Given the description of an element on the screen output the (x, y) to click on. 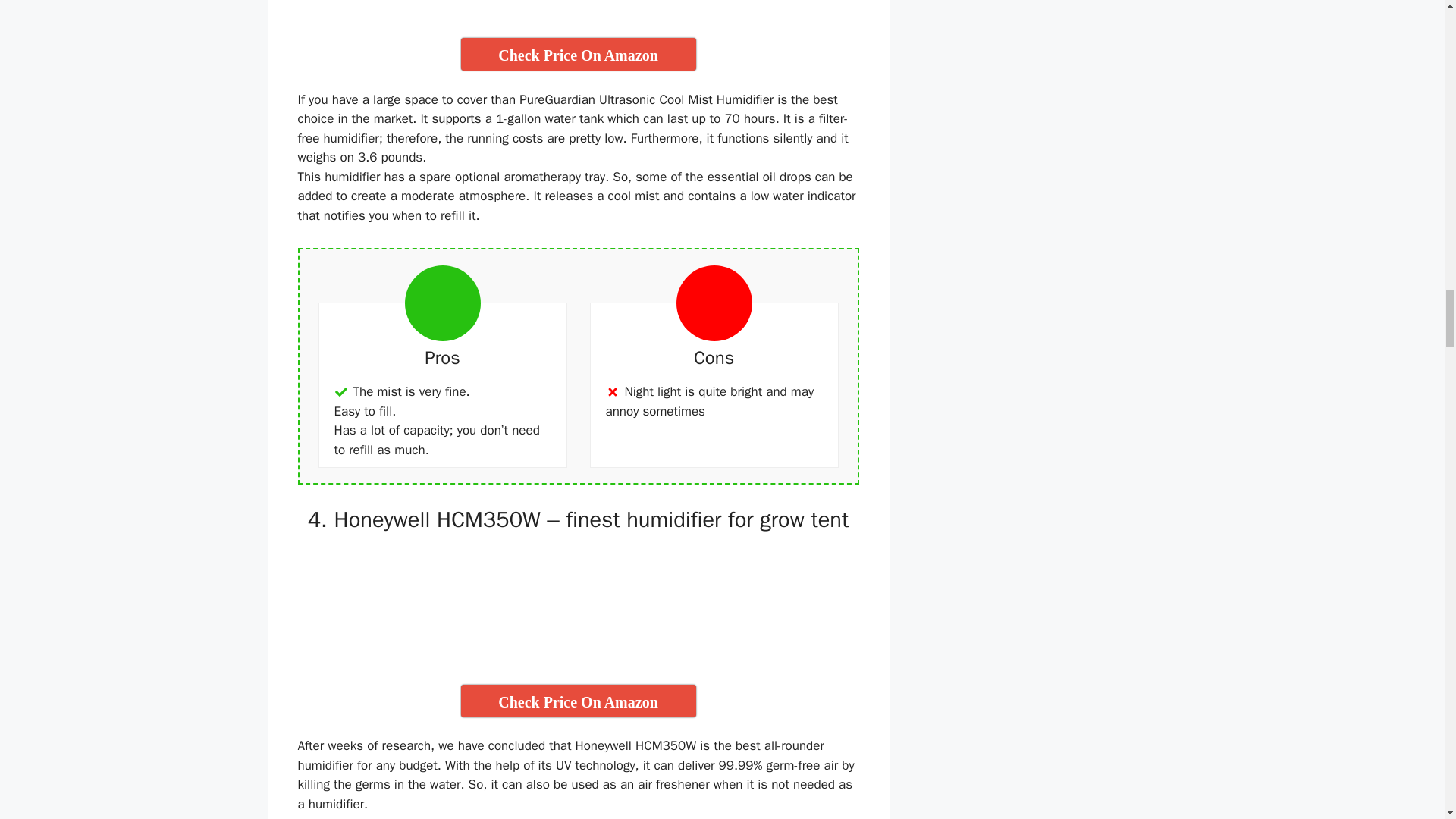
Check Price On Amazon (578, 53)
Check Price On Amazon (578, 700)
